Given the description of an element on the screen output the (x, y) to click on. 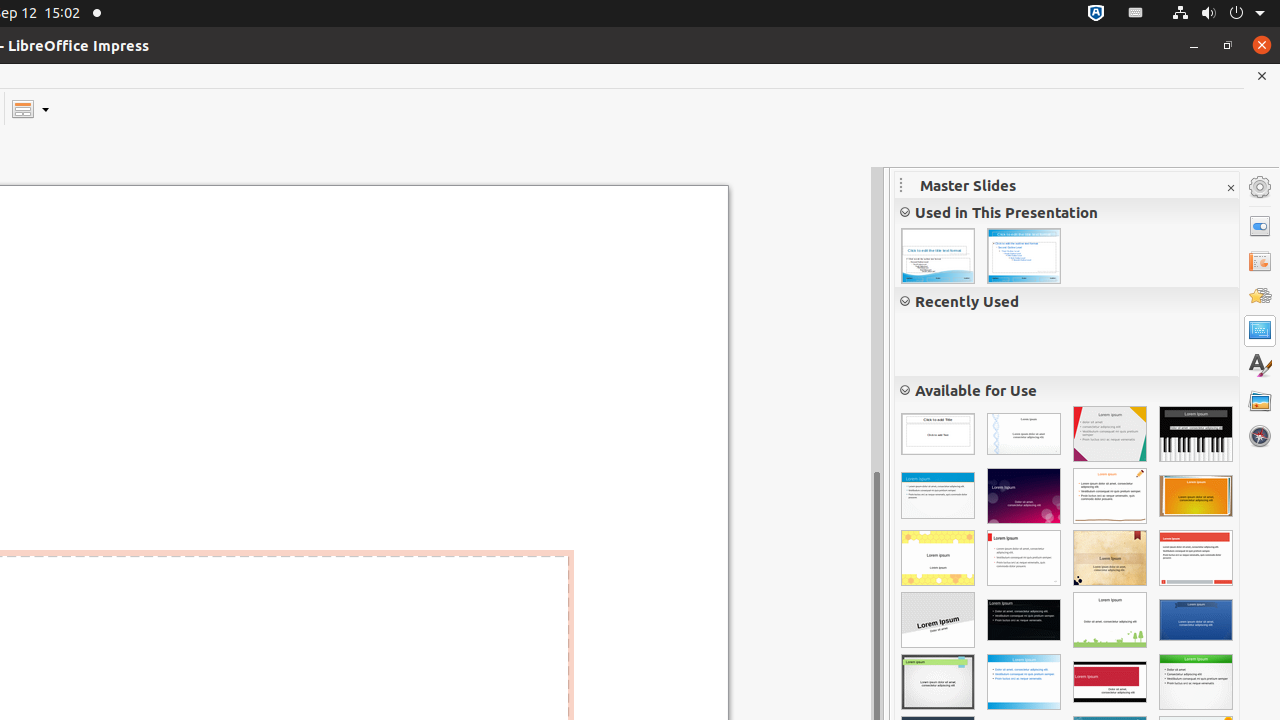
Piano Element type: list-item (1196, 434)
Portfolio Element type: list-item (1024, 620)
Lush Green Element type: list-item (1196, 682)
:1.21/StatusNotifierItem Element type: menu (1136, 13)
Lights Element type: list-item (1024, 496)
